Given the description of an element on the screen output the (x, y) to click on. 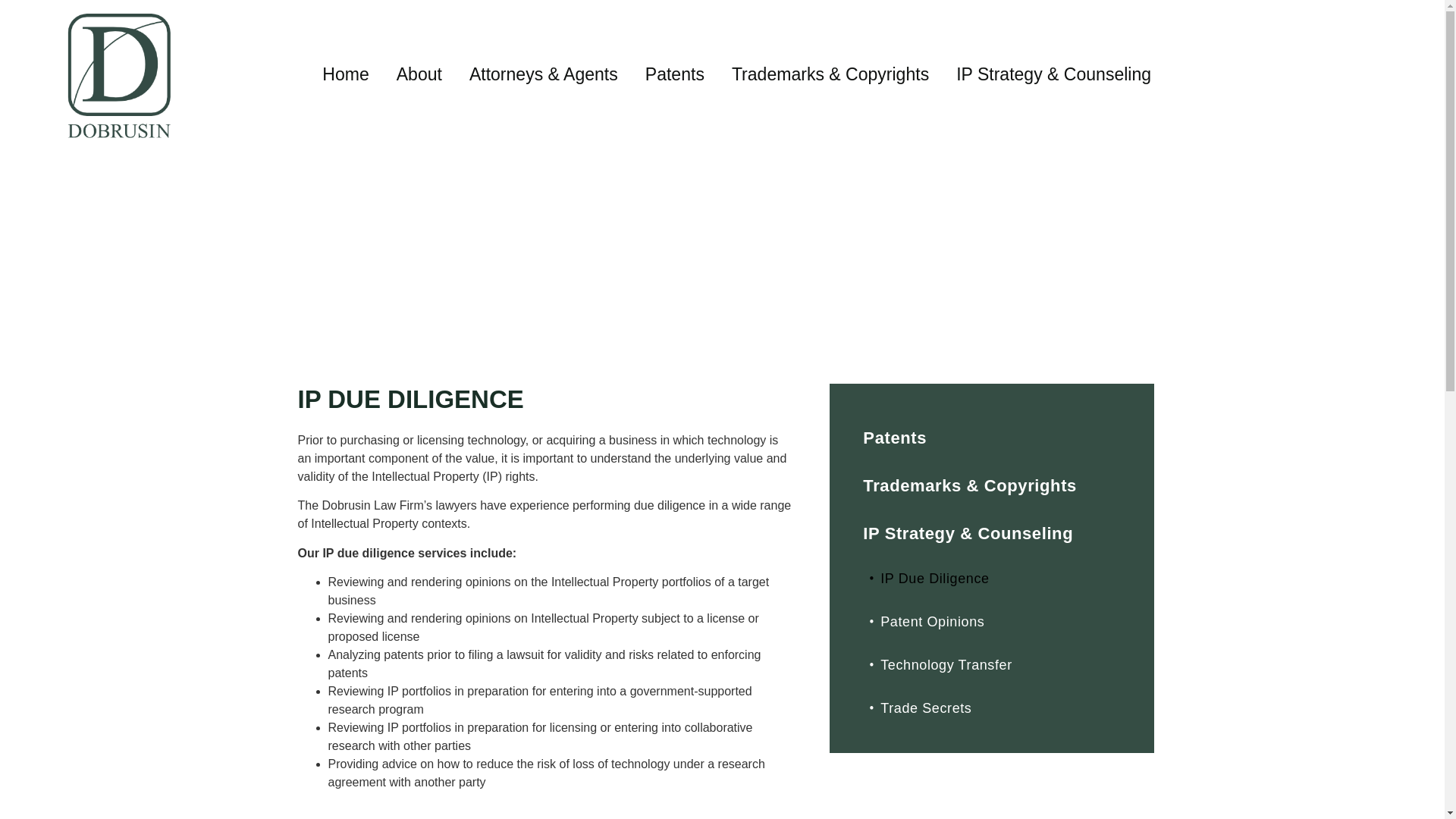
Patents (674, 73)
Patents (991, 437)
Contact Us (1346, 21)
IP Due Diligence (991, 578)
Technology Transfer (991, 665)
Home (344, 73)
Trade Secrets (991, 708)
About (419, 73)
Patent Opinions (991, 621)
